Given the description of an element on the screen output the (x, y) to click on. 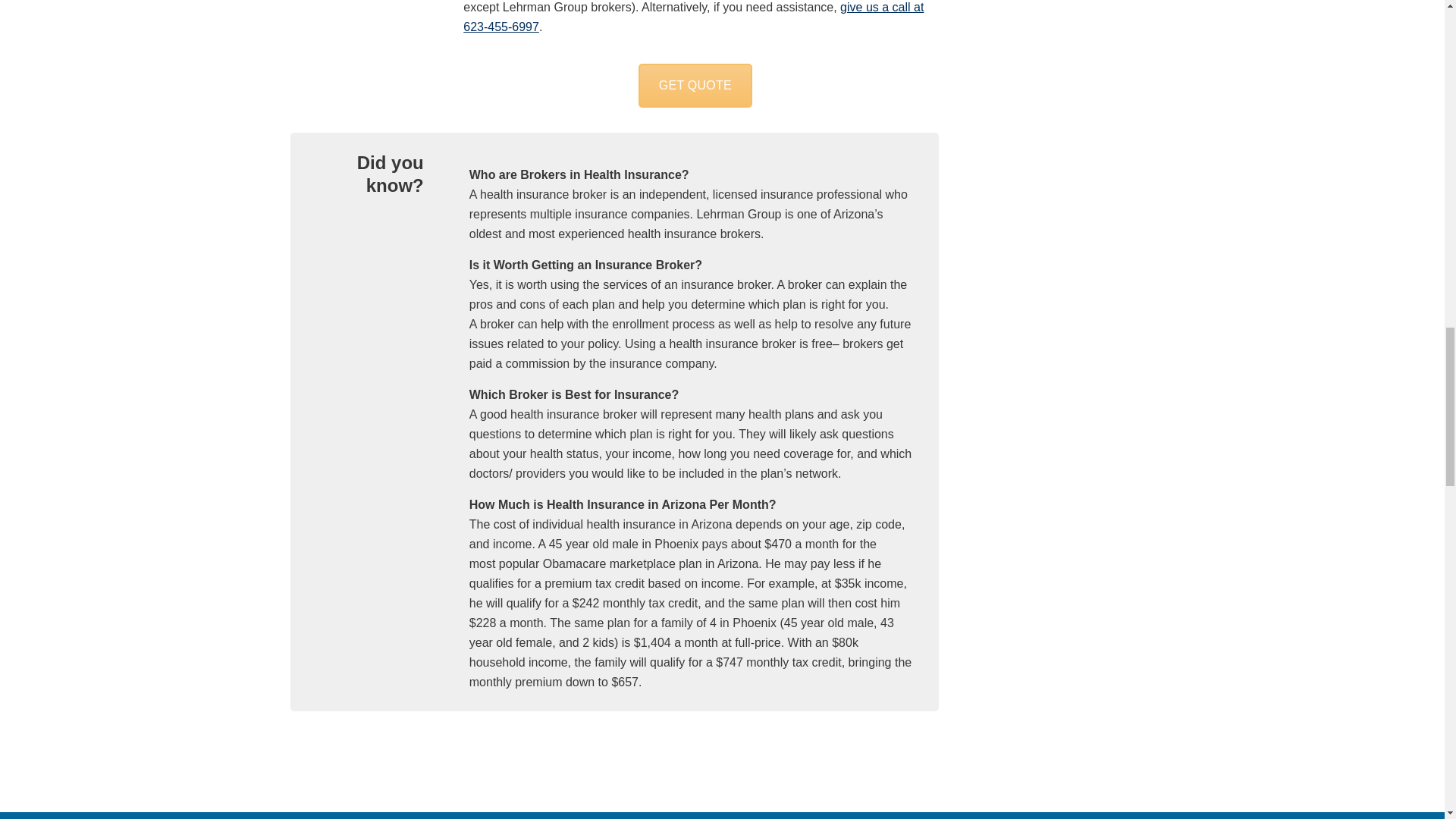
give us a call at 623-455-6997 (693, 16)
GET QUOTE (695, 85)
Individual Stand Alone Form (695, 85)
